Given the description of an element on the screen output the (x, y) to click on. 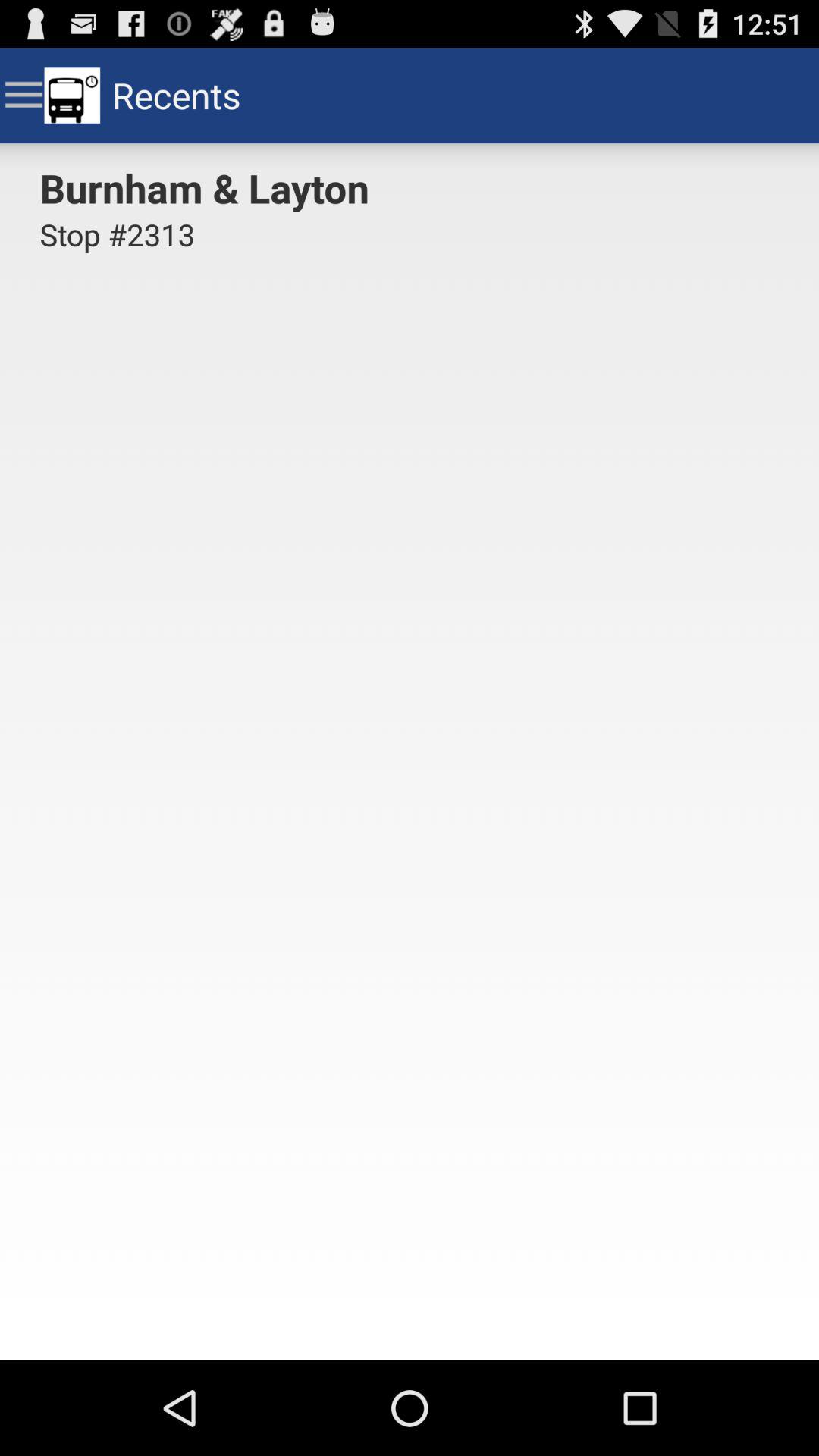
choose the item above stop #2313 (208, 187)
